Given the description of an element on the screen output the (x, y) to click on. 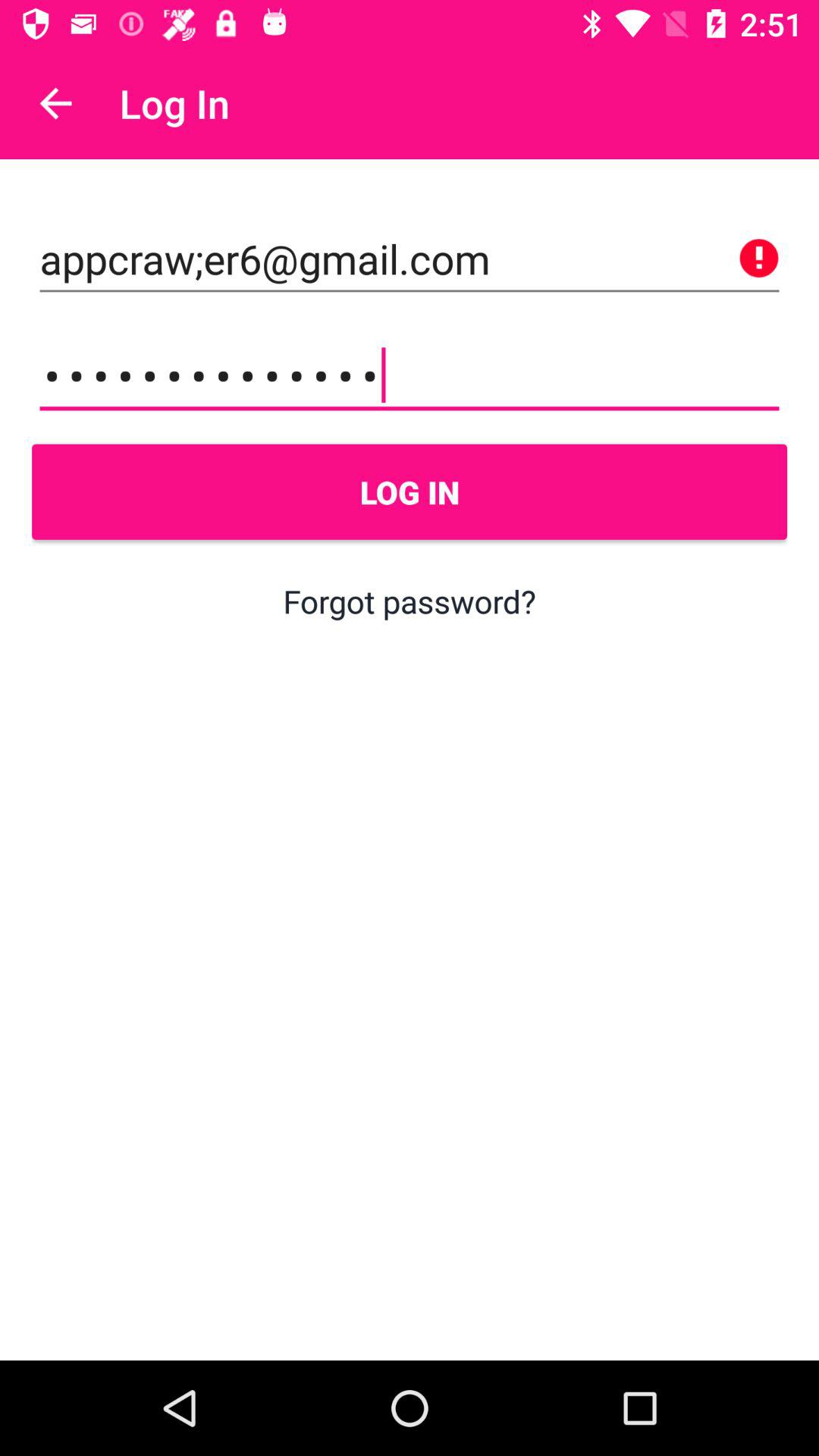
scroll to forgot password? item (409, 600)
